Given the description of an element on the screen output the (x, y) to click on. 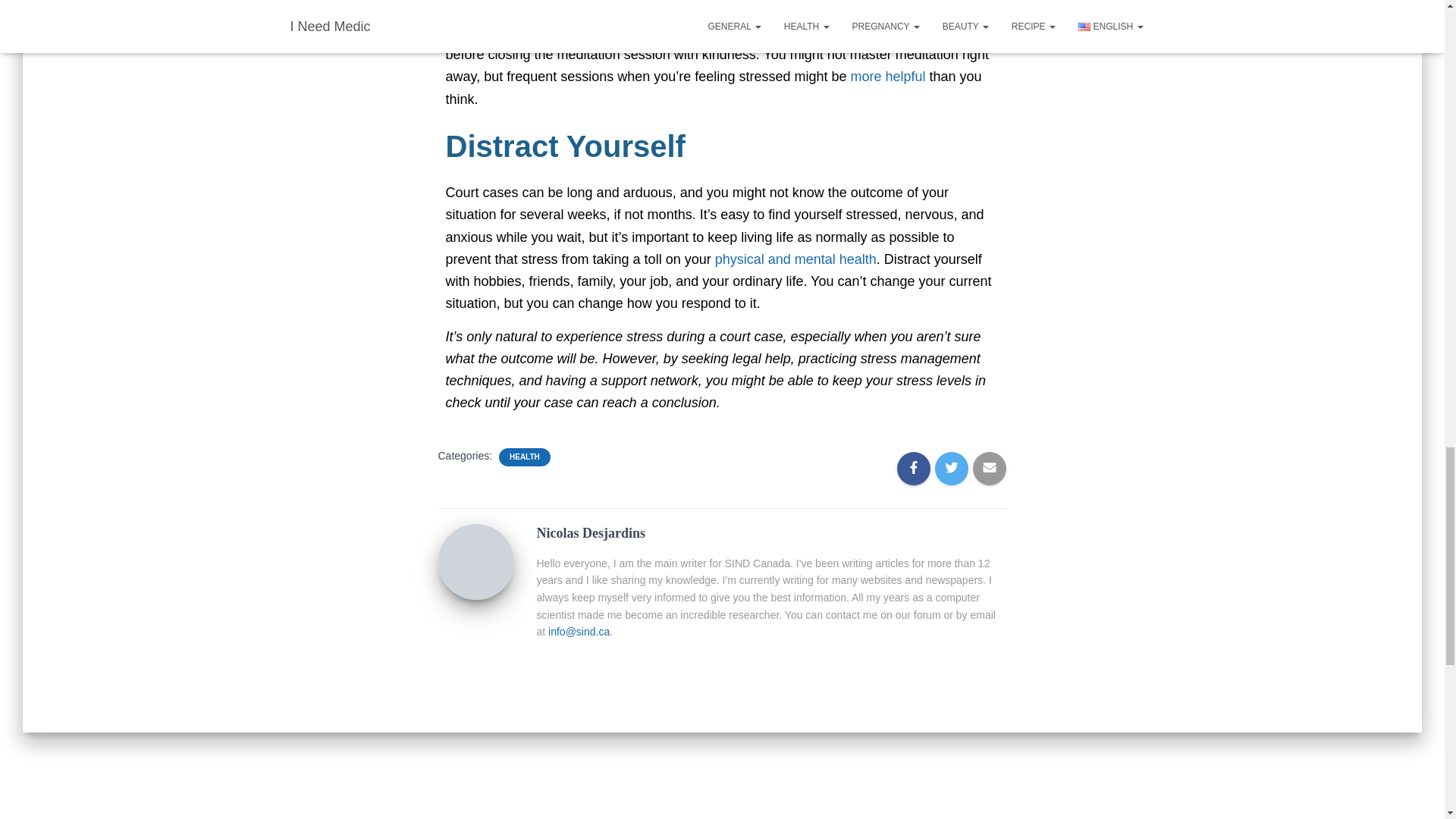
physical and mental health (795, 258)
HEALTH (524, 457)
more helpful (887, 76)
